Given the description of an element on the screen output the (x, y) to click on. 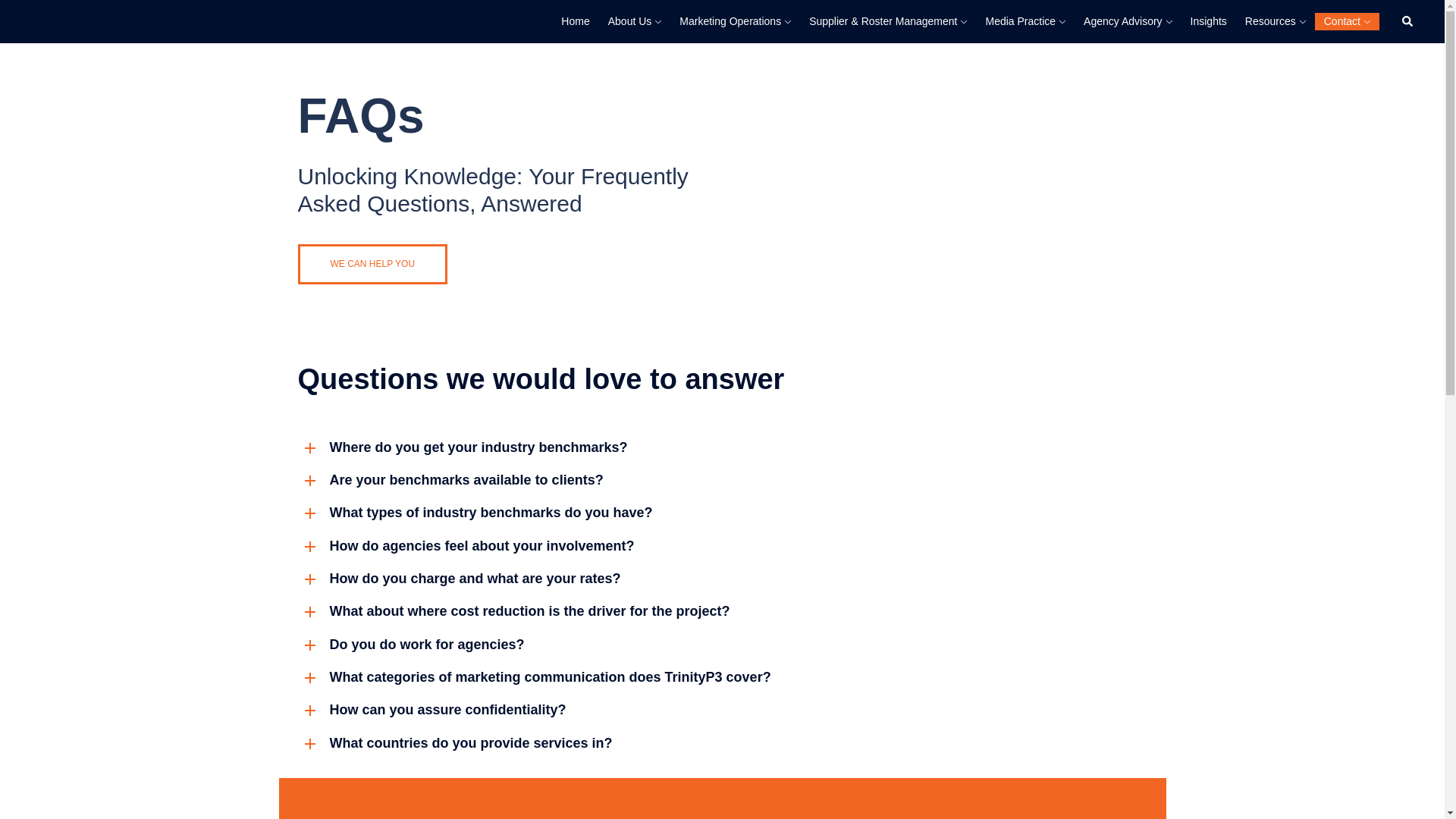
Marketing Operations (729, 22)
Agency Advisory (1122, 22)
Insights (1209, 22)
About Us (630, 22)
Media Practice (1020, 22)
Home (574, 22)
Resources (1269, 22)
